Given the description of an element on the screen output the (x, y) to click on. 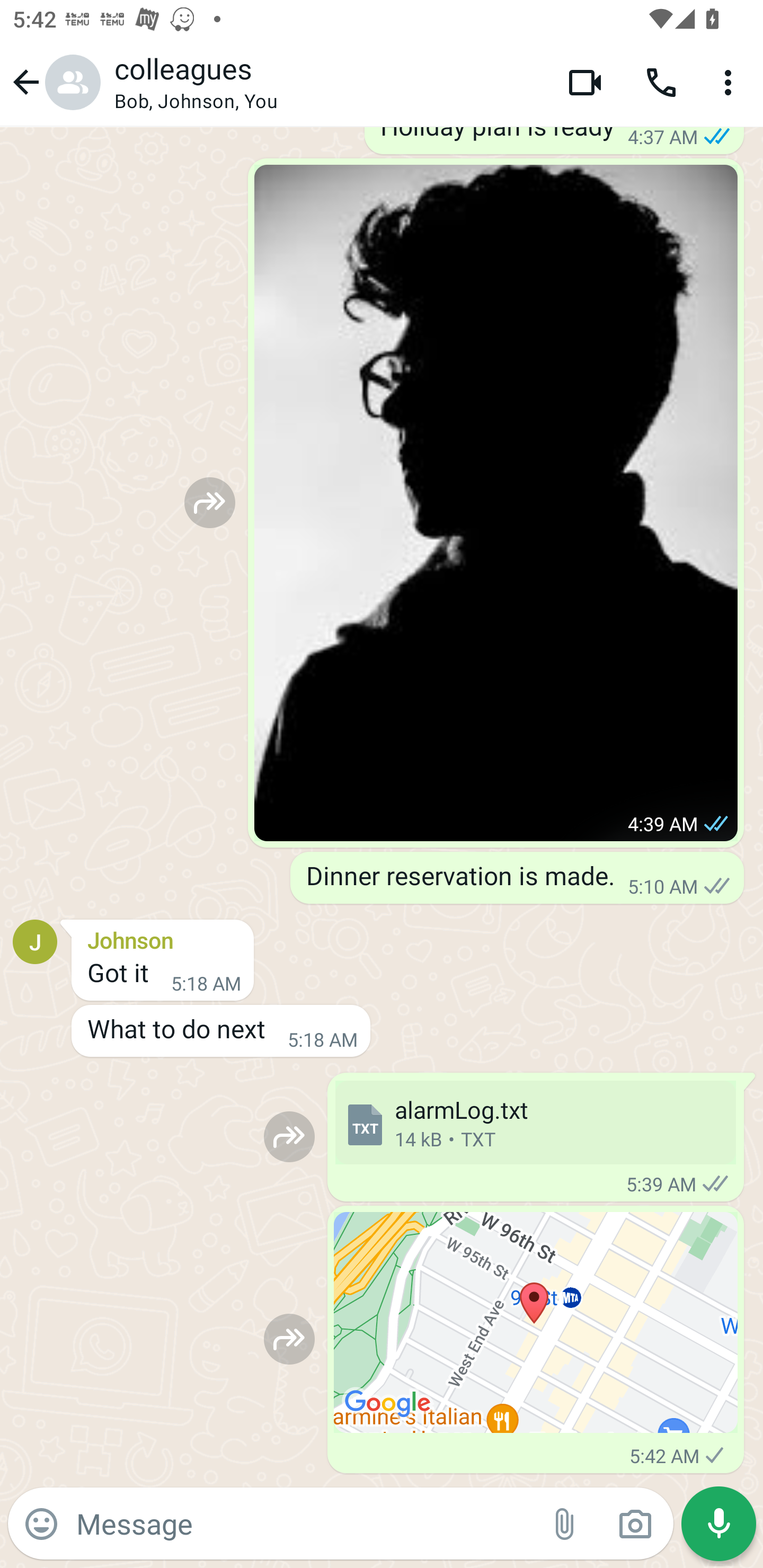
colleagues Bob, Johnson, You (327, 82)
Navigate up (54, 82)
Video call (585, 81)
Voice call (661, 81)
More options (731, 81)
View photo (495, 502)
Forward to… (209, 502)
Profile picture for Johnson J (34, 941)
Johnson (162, 936)
alarmLog.txt 14 kB • TXT (535, 1122)
Forward to… (288, 1136)
Location (535, 1322)
Forward to… (288, 1338)
Emoji (41, 1523)
Attach (565, 1523)
Camera (634, 1523)
Message (303, 1523)
